Given the description of an element on the screen output the (x, y) to click on. 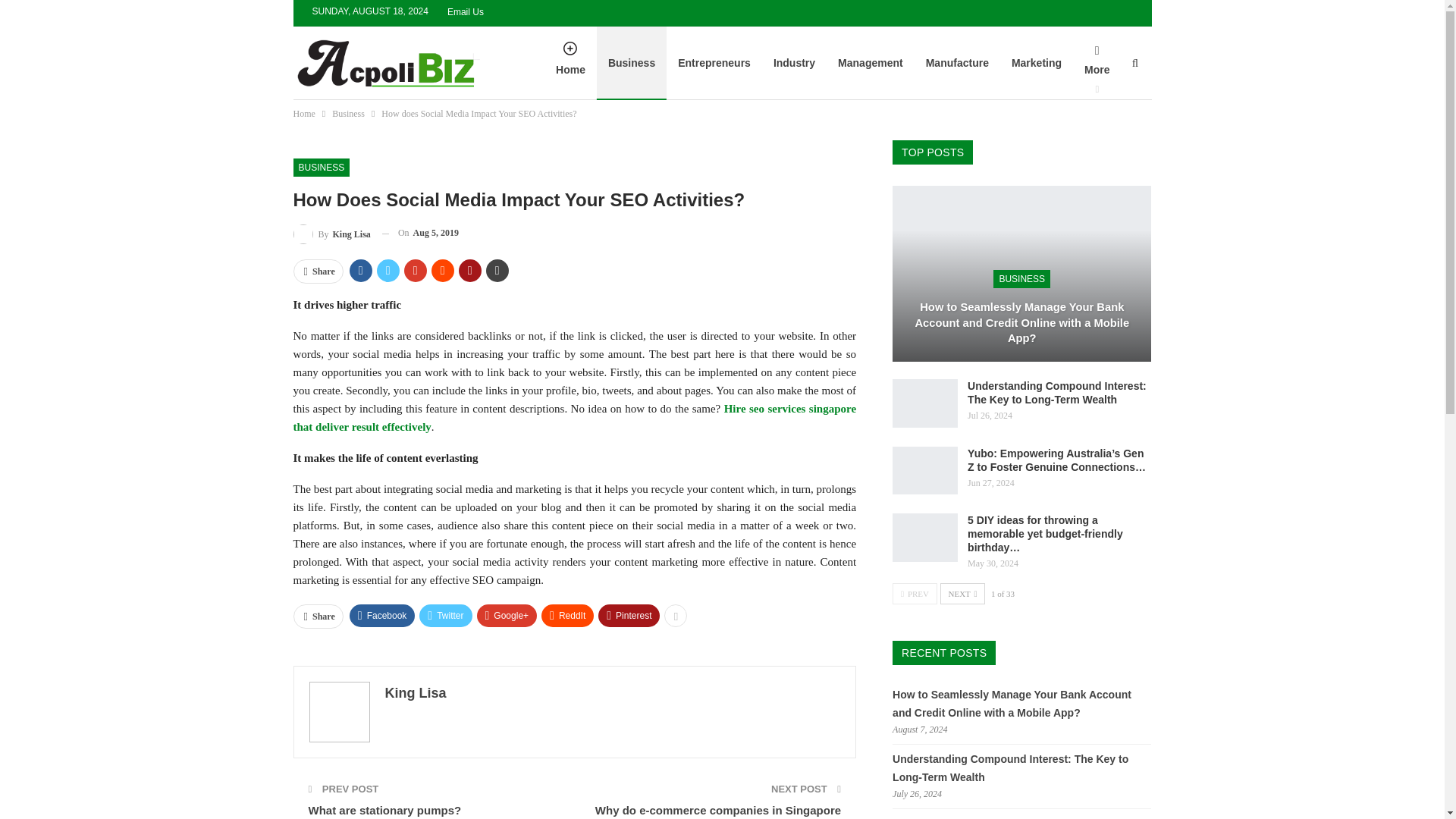
Hire seo services singapore that deliver result effectively (574, 417)
Browse Author Articles (330, 232)
Twitter (445, 615)
Facebook (381, 615)
BUSINESS (320, 167)
By King Lisa (330, 232)
Manufacture (957, 62)
Email Us (464, 11)
What are stationary pumps? (384, 809)
Business (348, 113)
